Given the description of an element on the screen output the (x, y) to click on. 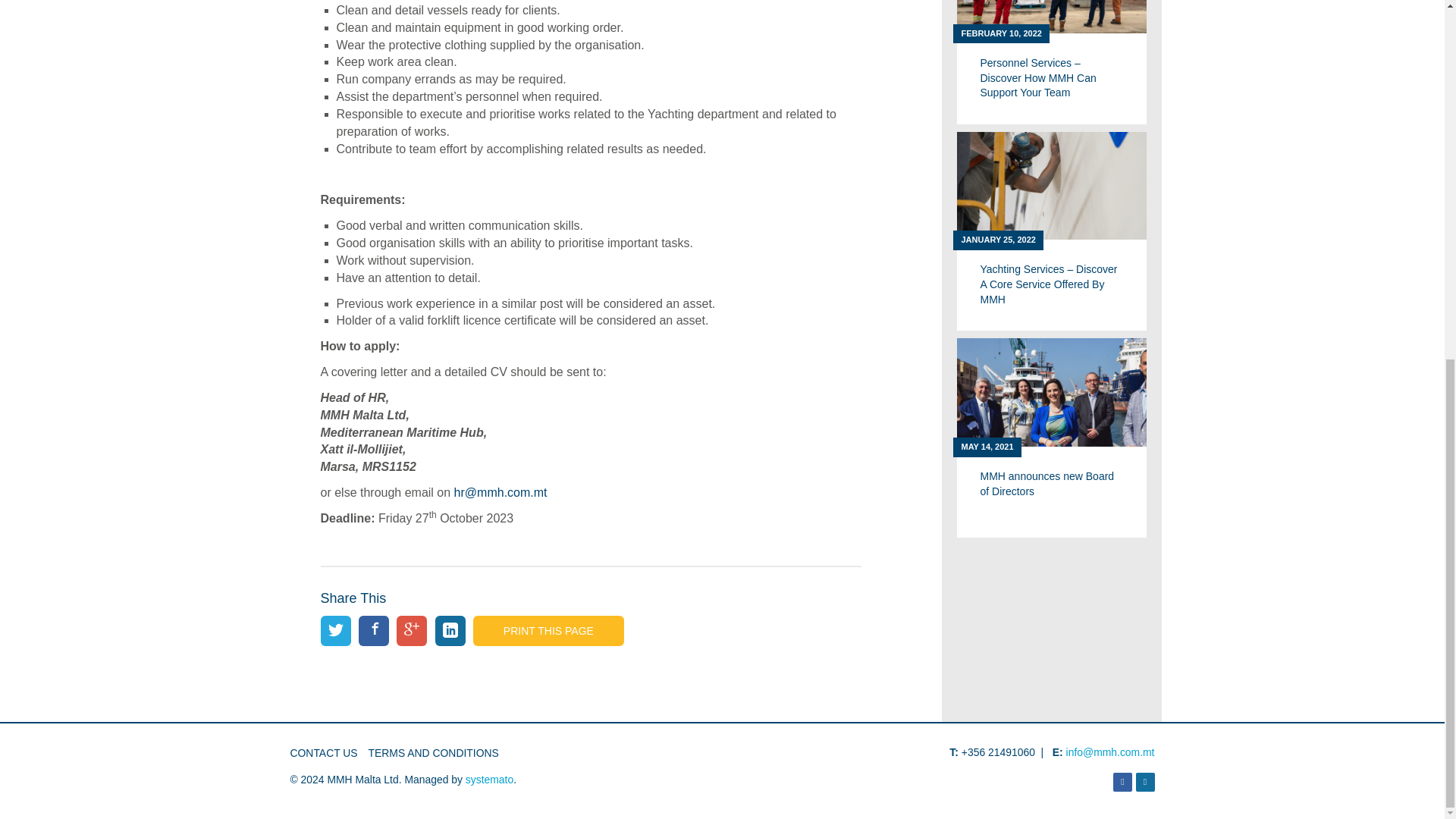
systemato (1051, 437)
PRINT THIS PAGE (489, 779)
CONTACT US (548, 630)
TERMS AND CONDITIONS (322, 752)
Share on Twitter (432, 752)
